Given the description of an element on the screen output the (x, y) to click on. 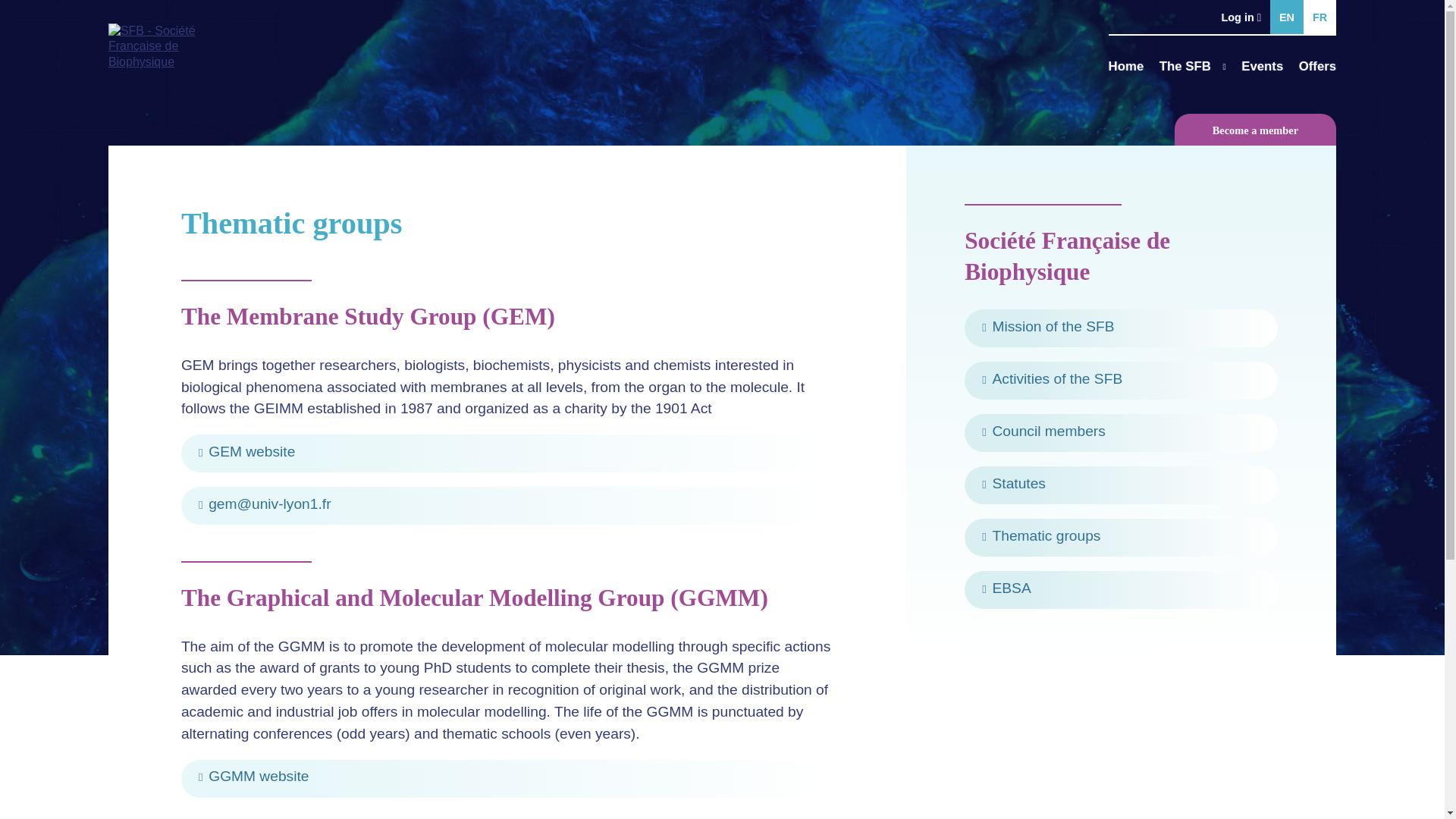
Mission of the SFB (1120, 328)
Become a member (1255, 129)
Become a member (1255, 129)
FR (1319, 17)
Events (1261, 63)
EBSA (1120, 589)
Activities of the SFB (1120, 380)
The SFB (1192, 63)
Statutes (1120, 485)
Thematic groups (1120, 537)
